Given the description of an element on the screen output the (x, y) to click on. 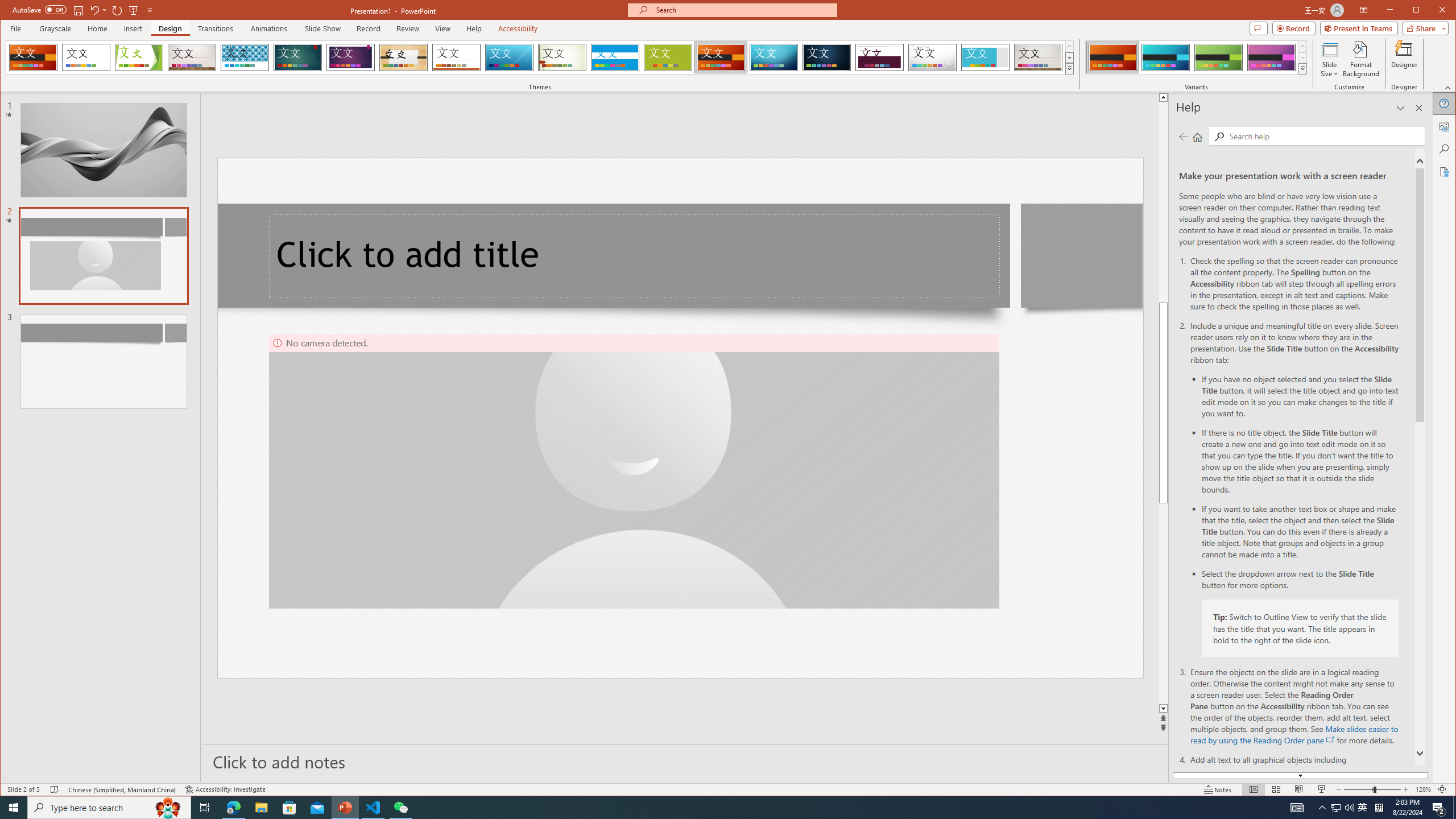
Circuit (773, 57)
Ion Boardroom (350, 57)
Berlin Variant 1 (1112, 57)
